Given the description of an element on the screen output the (x, y) to click on. 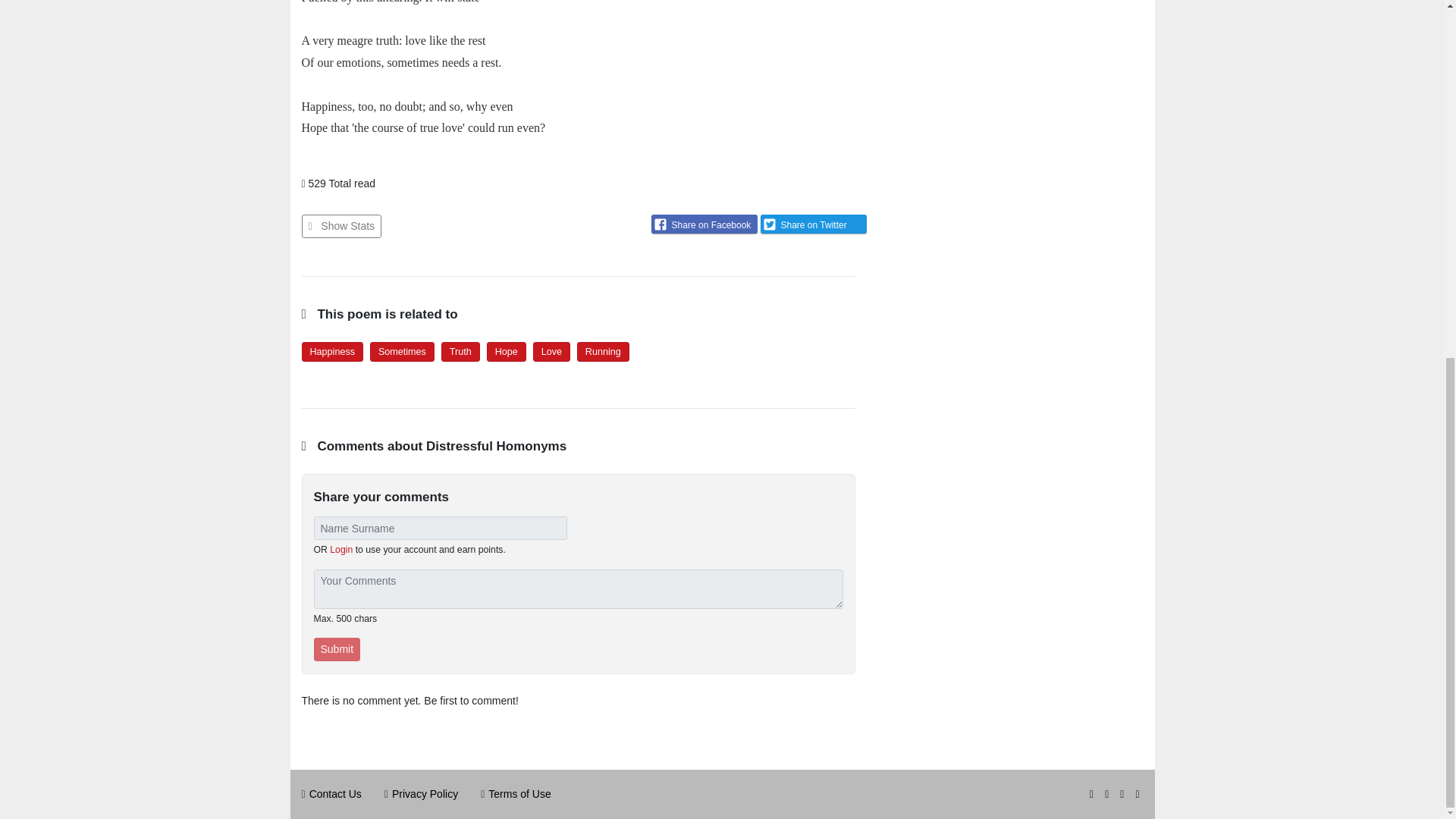
Sometimes (402, 351)
Running (603, 351)
Terms of Use (518, 793)
Happiness (331, 351)
Privacy Policy (424, 793)
Follow us on Facebook (1122, 793)
Follow us on Pinterest (1138, 793)
Contact Us (334, 793)
Share on Twitter (813, 223)
  Show Stats (341, 226)
Privacy Policy (424, 793)
Truth (460, 351)
Hope (506, 351)
Contact Us (334, 793)
Share on Facebook (703, 223)
